Given the description of an element on the screen output the (x, y) to click on. 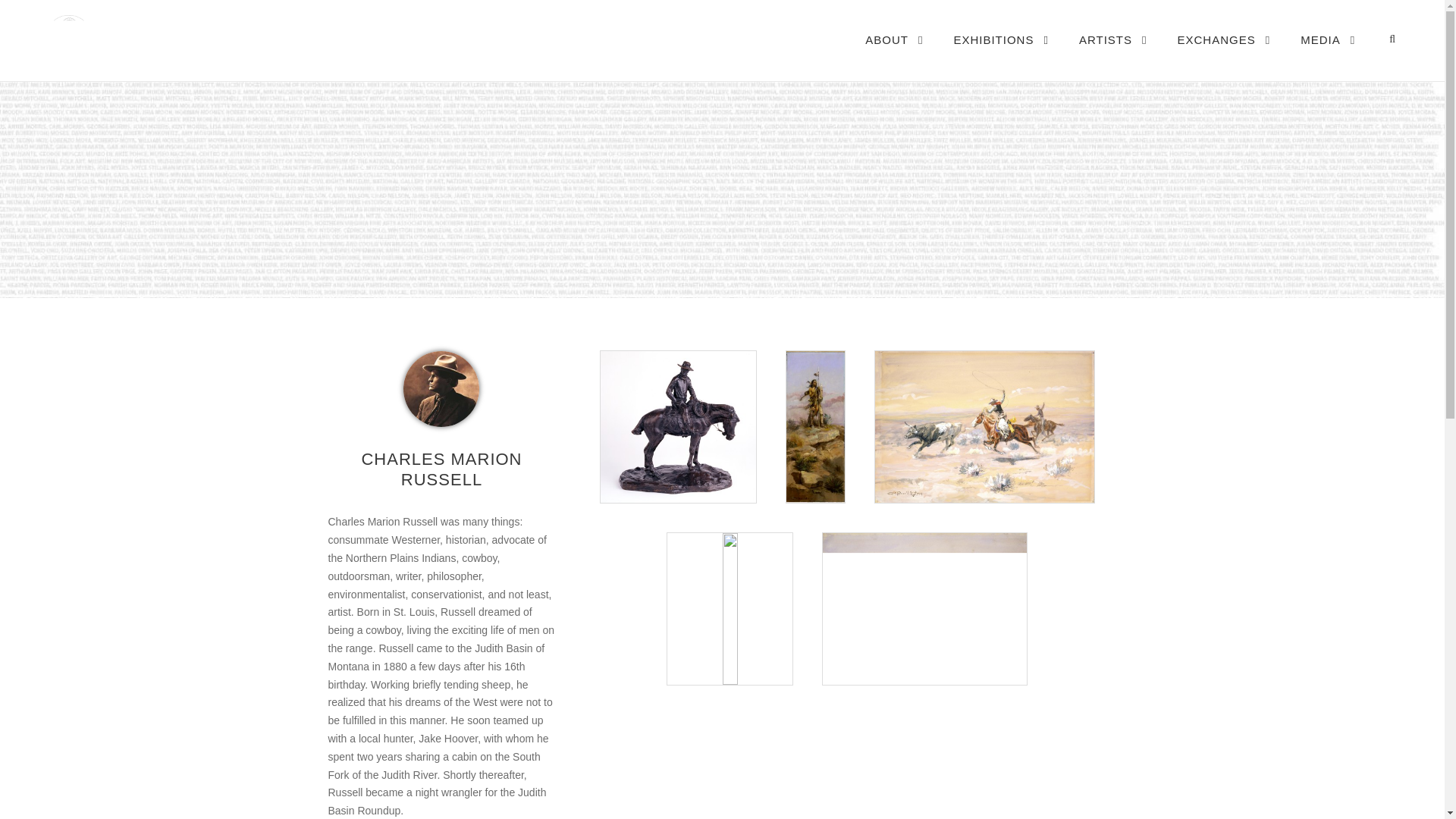
aie logo3 (188, 38)
572 (441, 388)
ABOUT (893, 55)
